Given the description of an element on the screen output the (x, y) to click on. 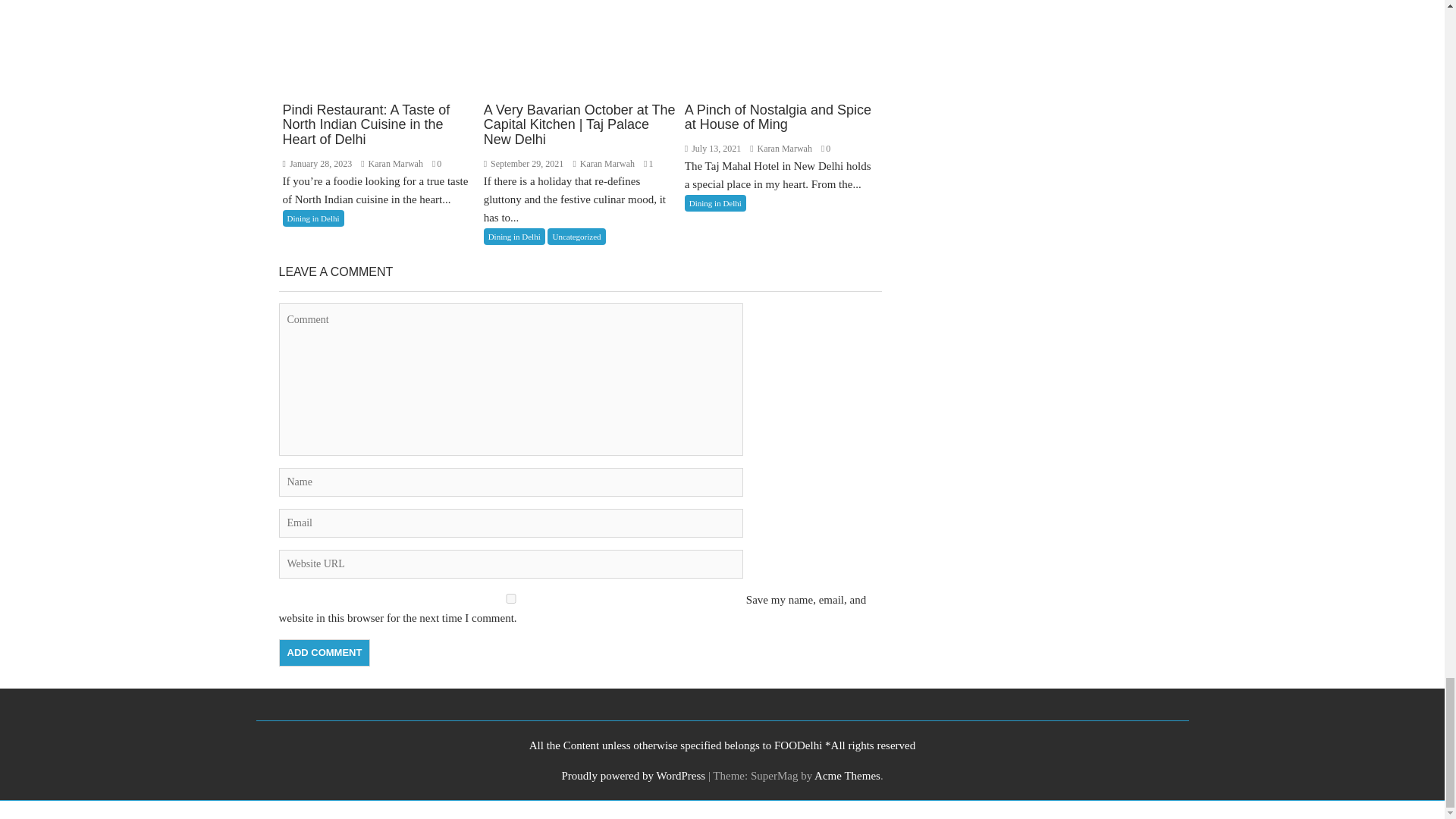
Karan Marwah (393, 163)
Karan Marwah (781, 148)
Karan Marwah (604, 163)
yes (511, 598)
Add Comment (325, 652)
